Given the description of an element on the screen output the (x, y) to click on. 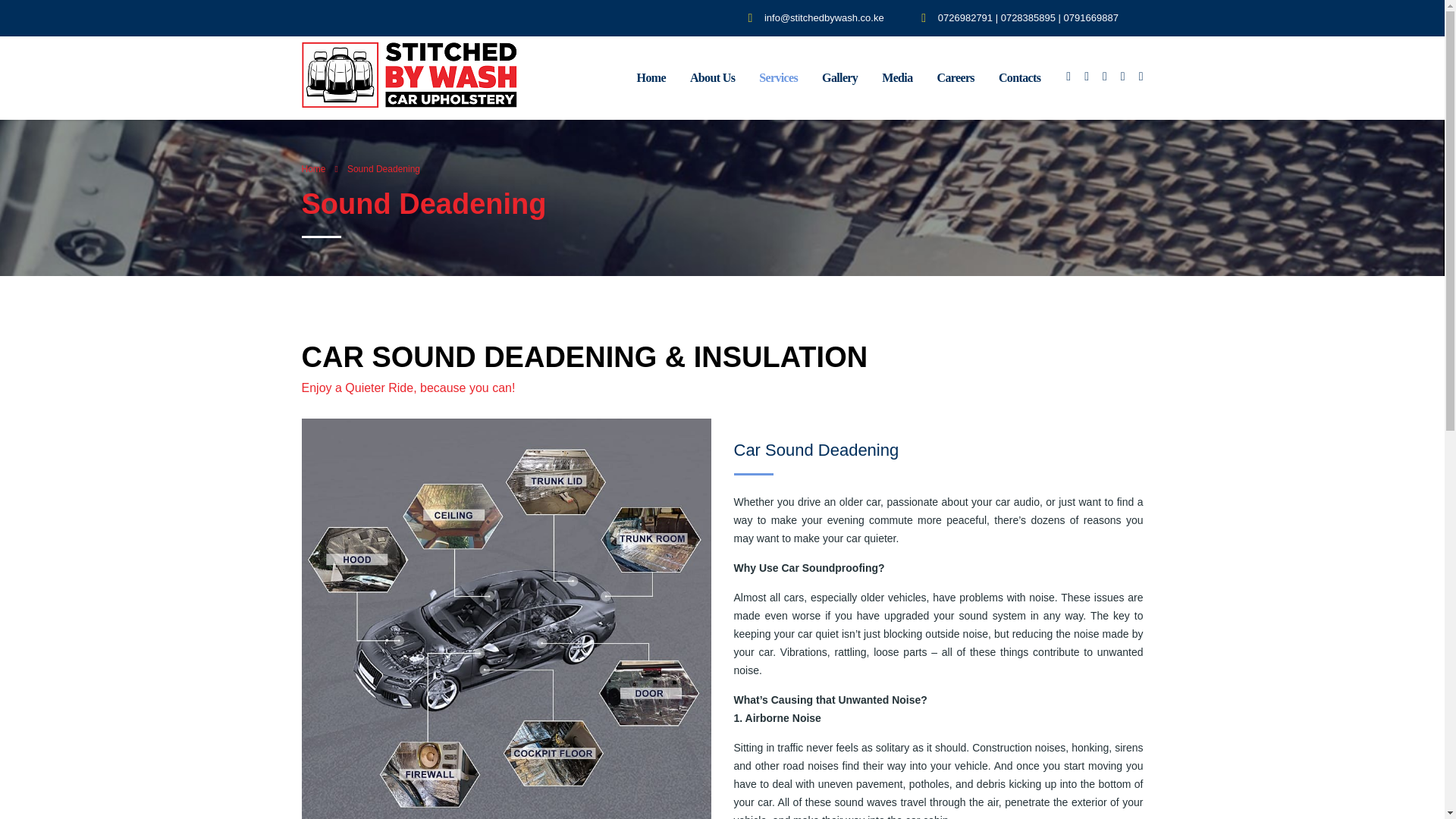
Media (896, 78)
Go to Stitched By Wash. (313, 168)
Home (651, 78)
Careers (955, 78)
Contacts (1019, 78)
Gallery (839, 78)
About Us (712, 78)
Services (777, 78)
